Given the description of an element on the screen output the (x, y) to click on. 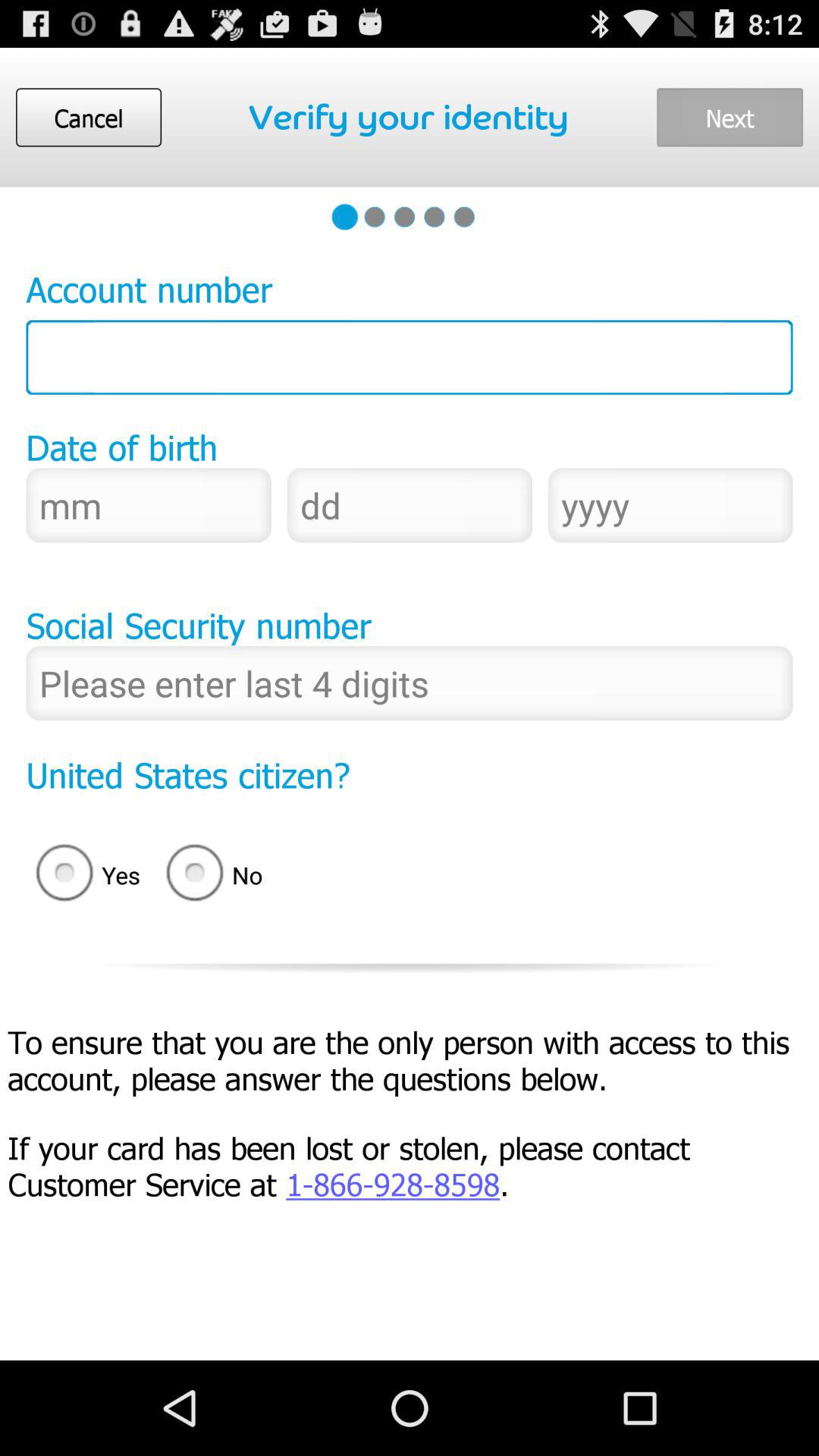
swipe until the next (729, 117)
